Given the description of an element on the screen output the (x, y) to click on. 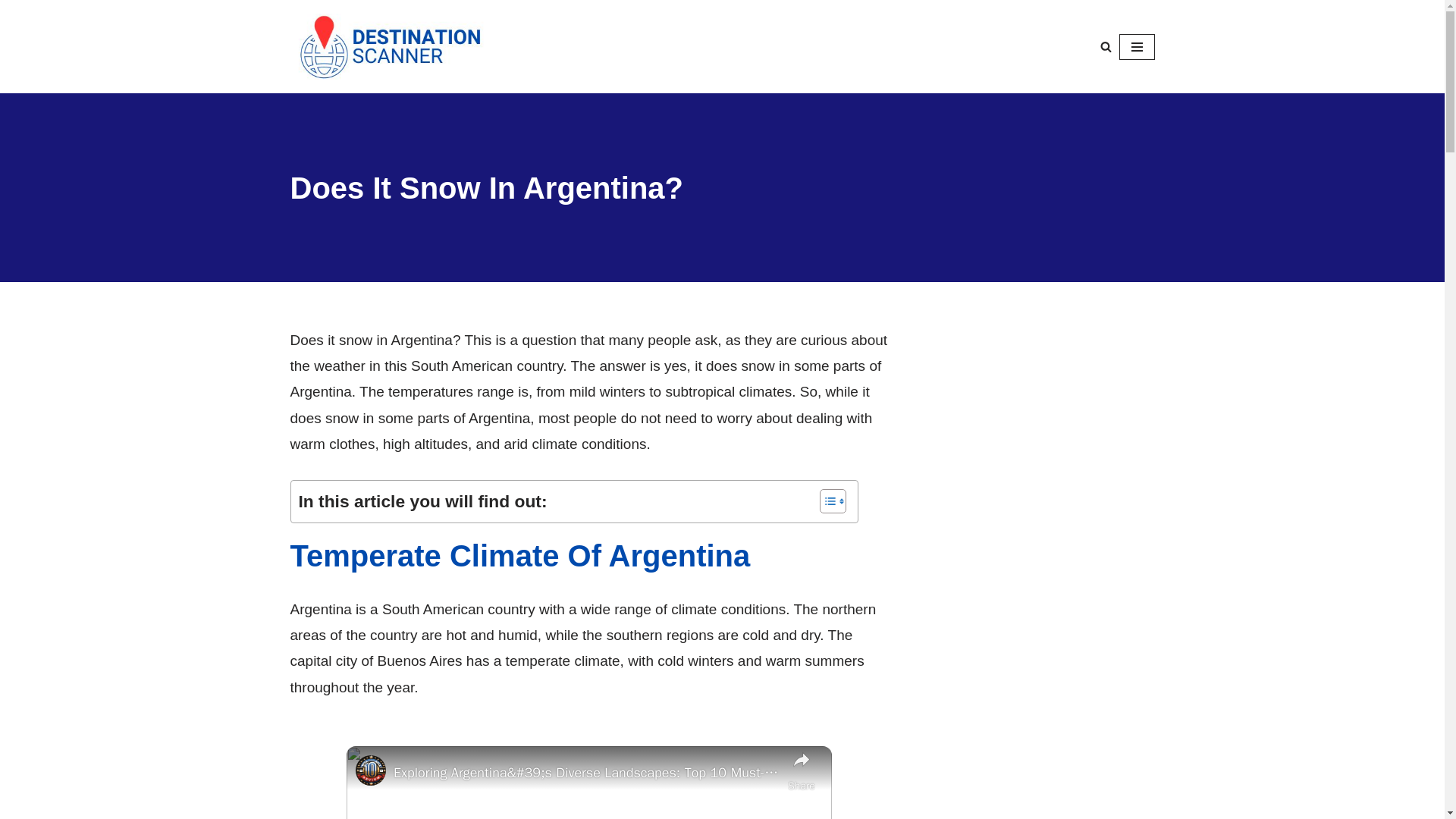
Destination Scanner... (407, 46)
Skip to content (11, 31)
Navigation Menu (1136, 46)
